Given the description of an element on the screen output the (x, y) to click on. 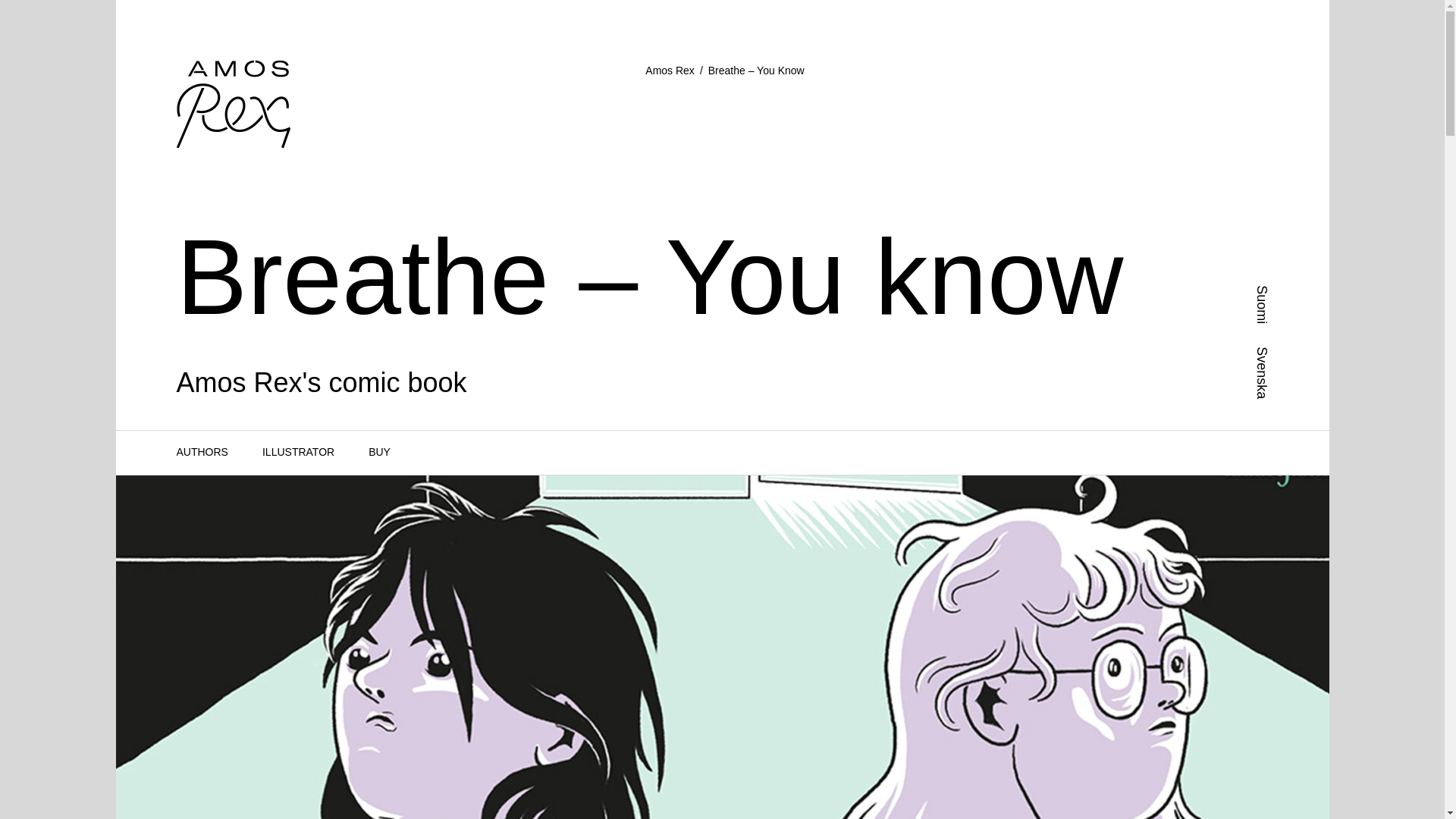
AUTHORS (201, 452)
ILLUSTRATOR (298, 452)
Amos Rex (669, 70)
Amos Rex (669, 70)
